Given the description of an element on the screen output the (x, y) to click on. 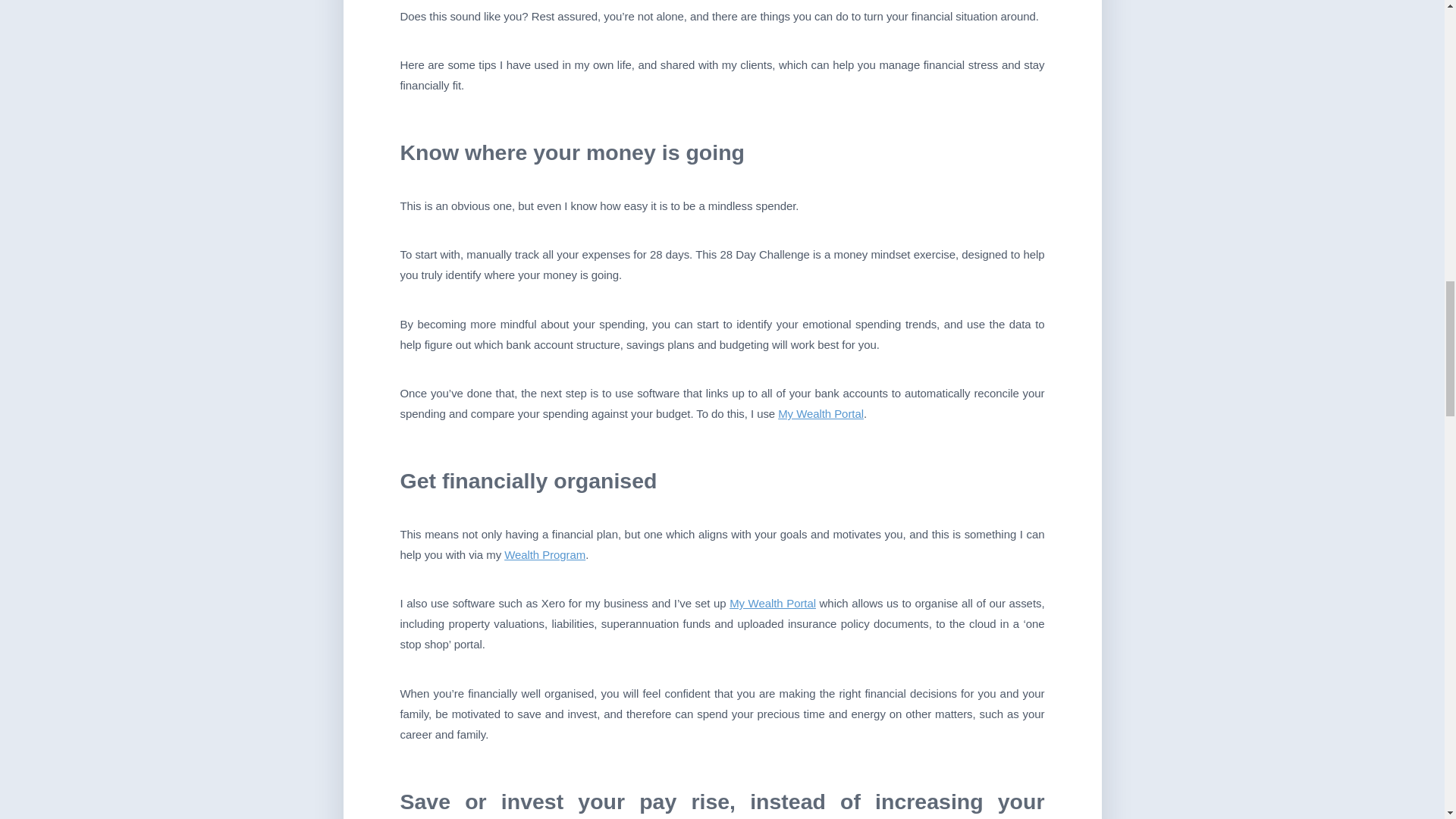
Wealth Program (544, 554)
My Wealth Portal (820, 413)
My Wealth Portal (772, 603)
